Given the description of an element on the screen output the (x, y) to click on. 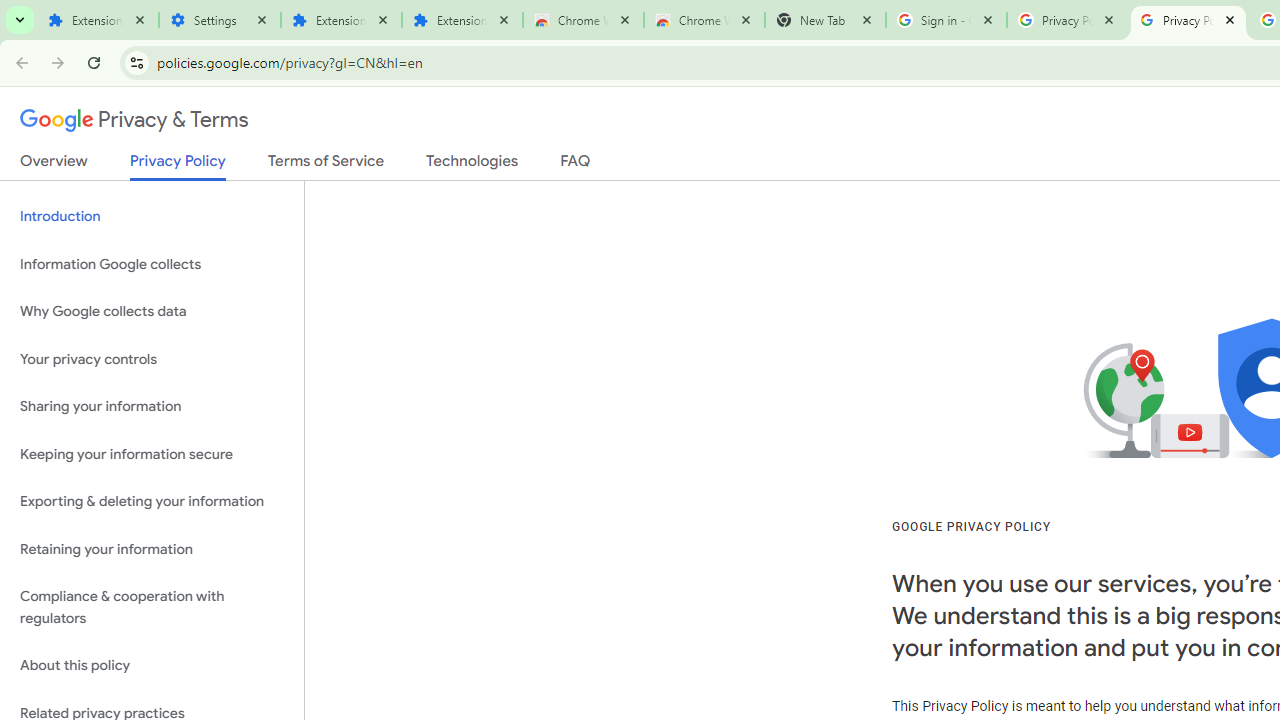
Introduction (152, 216)
Chrome Web Store (583, 20)
Terms of Service (326, 165)
Extensions (462, 20)
Information Google collects (152, 263)
Retaining your information (152, 548)
Sharing your information (152, 407)
Why Google collects data (152, 312)
Privacy & Terms (134, 120)
